Given the description of an element on the screen output the (x, y) to click on. 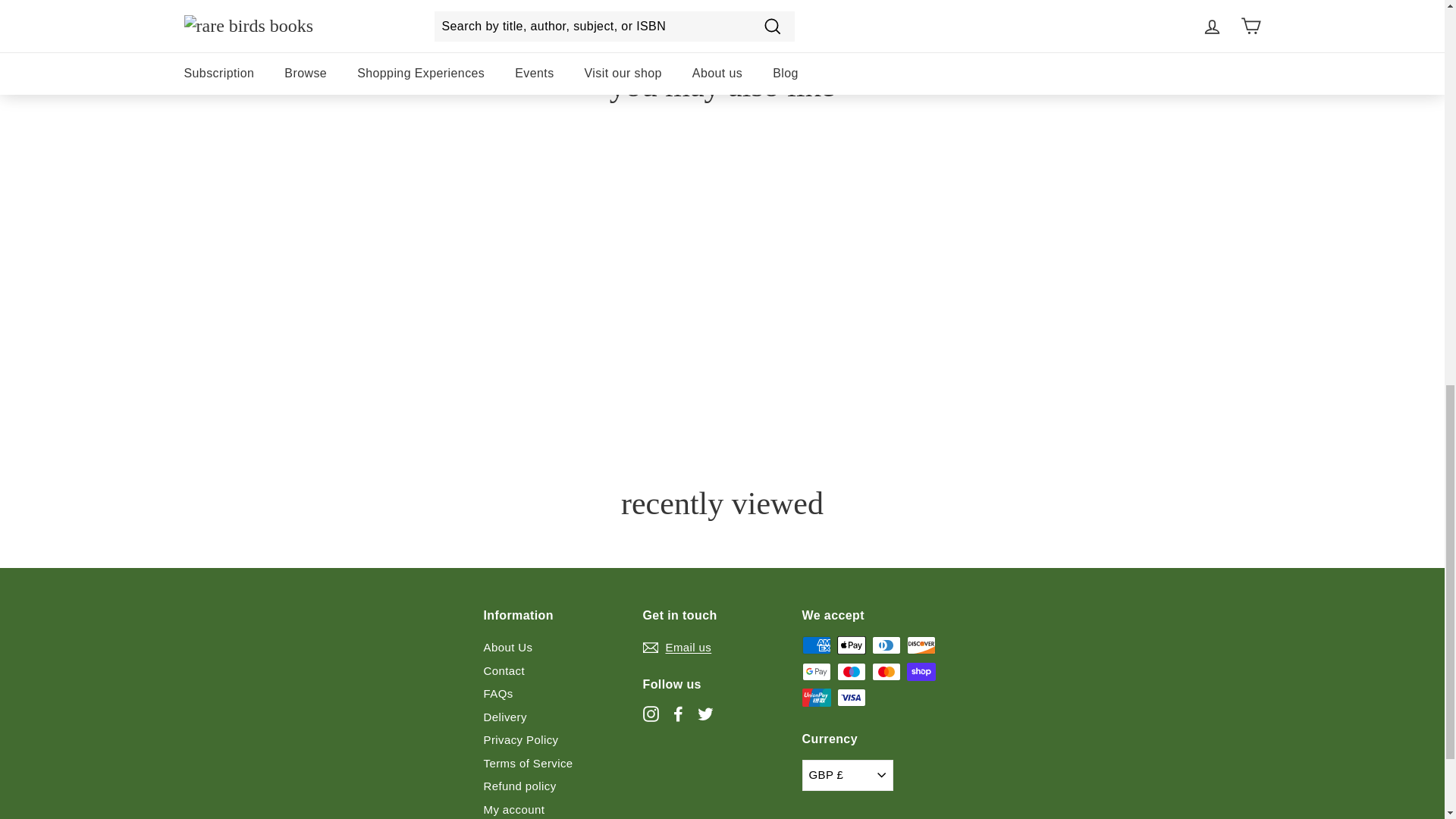
Shop Pay (921, 671)
Union Pay (816, 697)
Discover (921, 645)
Visa (851, 697)
Maestro (851, 671)
Apple Pay (851, 645)
Google Pay (816, 671)
Rare Birds Books on Instagram (651, 713)
Mastercard (886, 671)
American Express (816, 645)
Rare Birds Books on Facebook (677, 713)
Diners Club (886, 645)
Rare Birds Books on Twitter (705, 713)
